Given the description of an element on the screen output the (x, y) to click on. 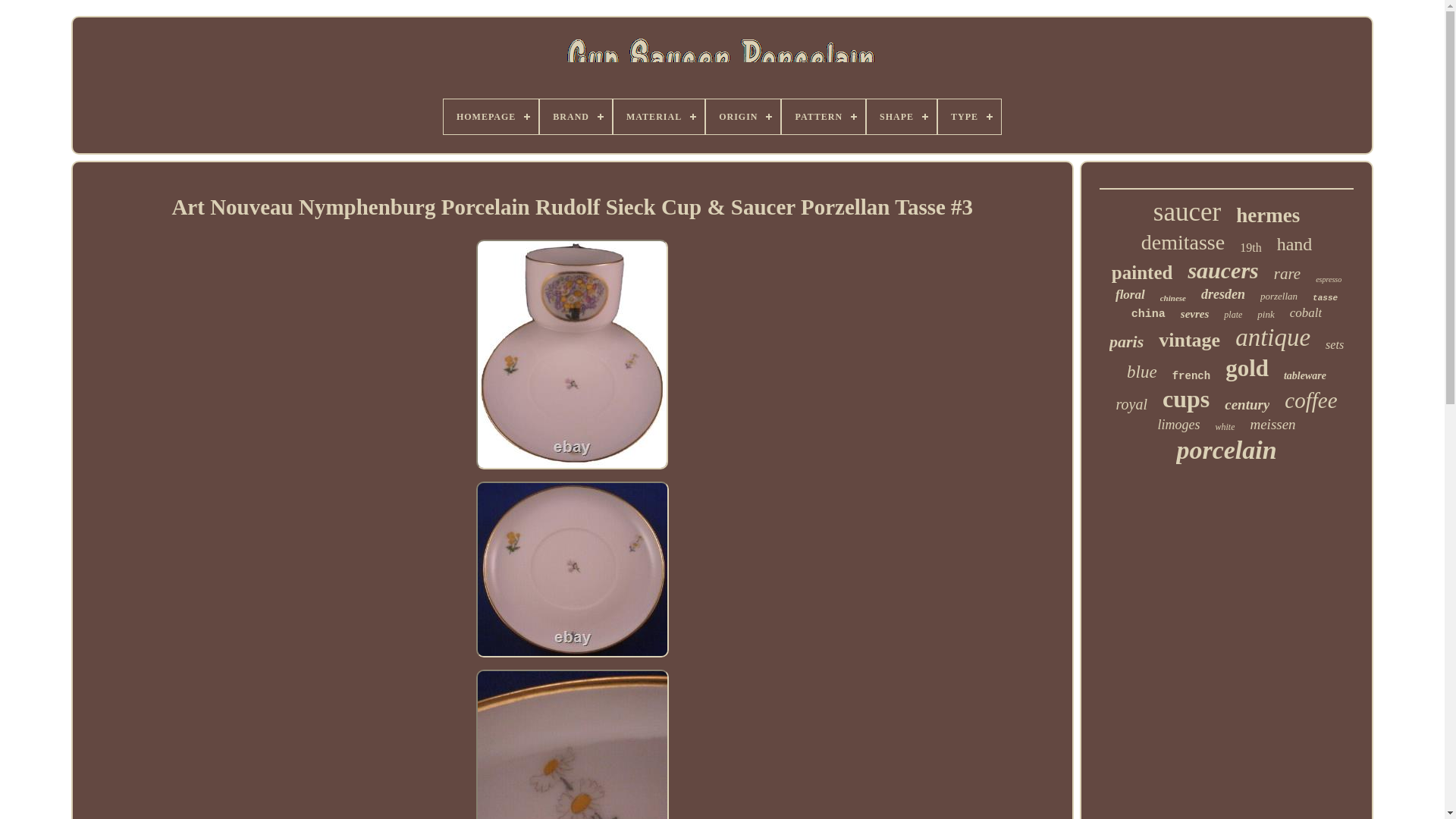
HOMEPAGE (491, 116)
BRAND (575, 116)
MATERIAL (658, 116)
